Given the description of an element on the screen output the (x, y) to click on. 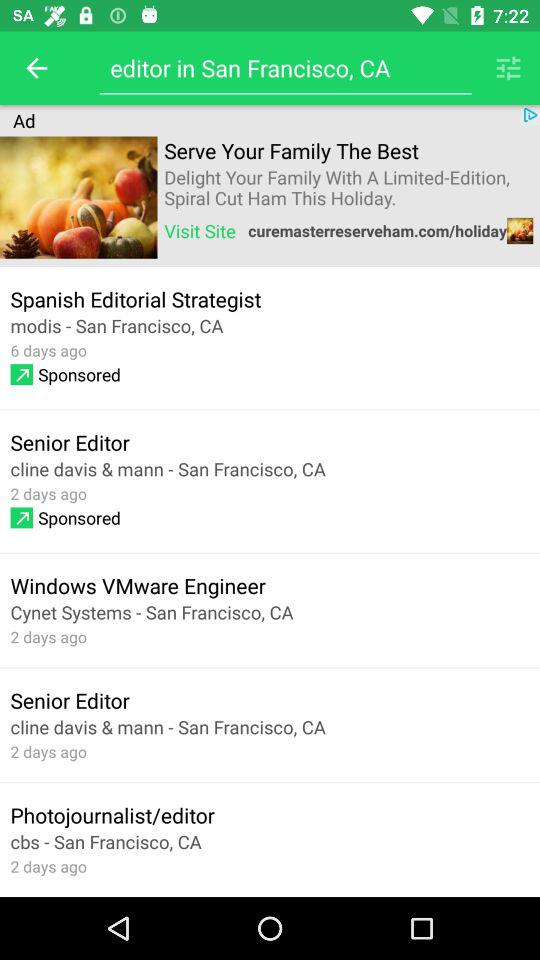
select the item above the ad (36, 68)
